Given the description of an element on the screen output the (x, y) to click on. 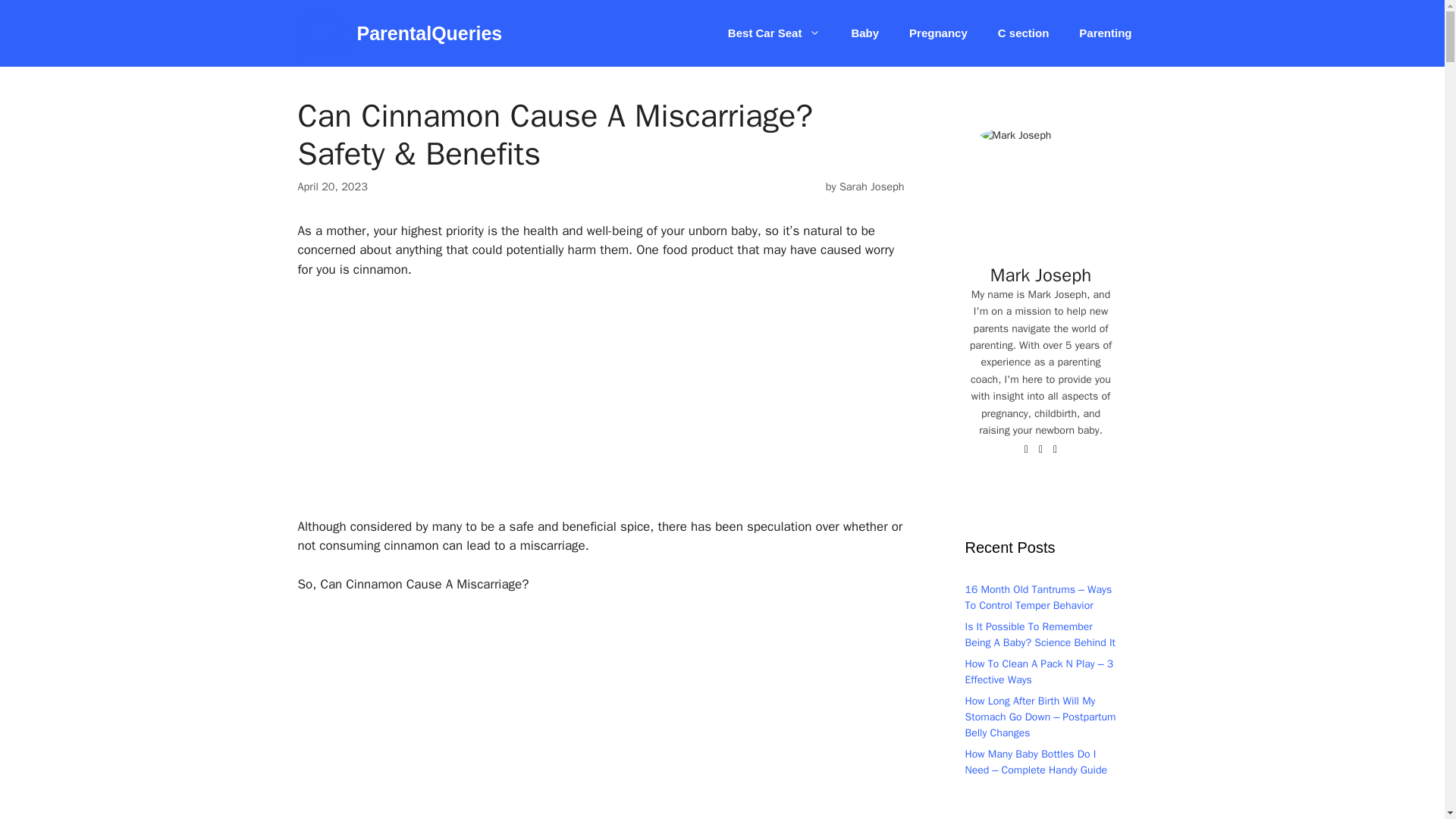
Best Car Seat (774, 33)
View all posts by Sarah Joseph (872, 186)
ParentalQueries (429, 33)
Sarah Joseph (872, 186)
Baby (864, 33)
C section (1023, 33)
Pregnancy (937, 33)
Parenting (1105, 33)
